Given the description of an element on the screen output the (x, y) to click on. 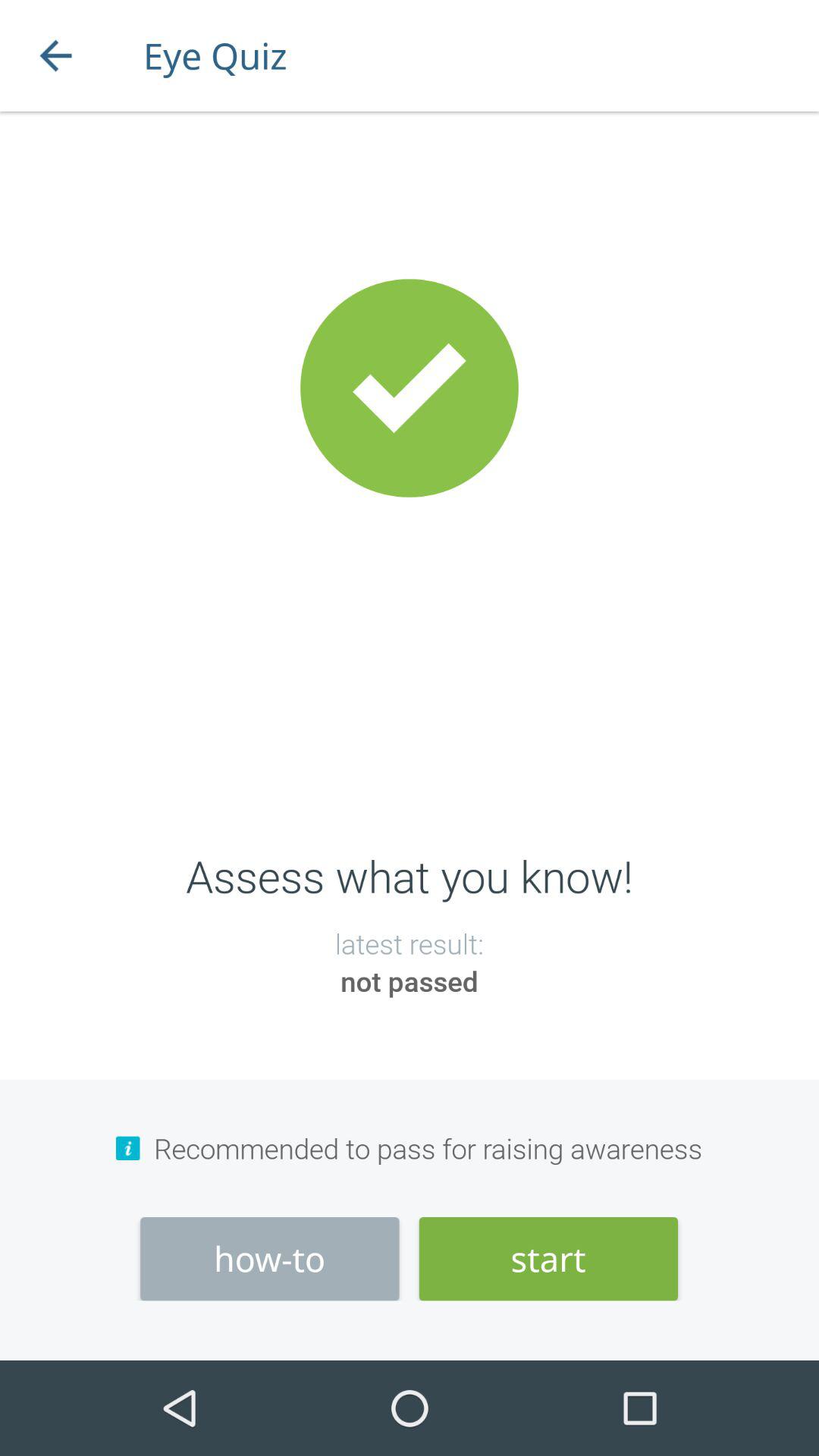
press start (548, 1258)
